Given the description of an element on the screen output the (x, y) to click on. 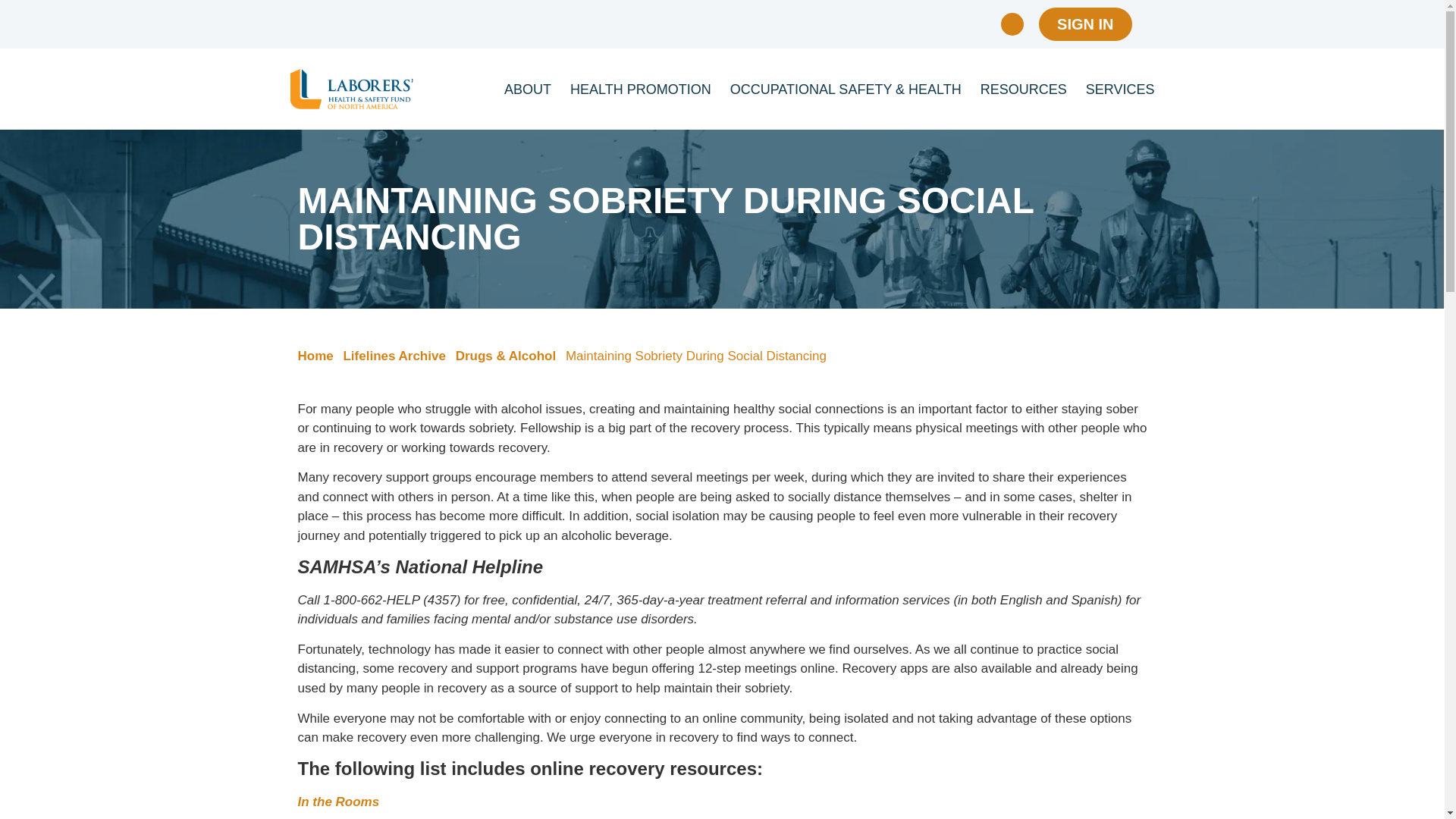
Home (315, 355)
ABOUT (527, 88)
RESOURCES (1023, 88)
In the Rooms (337, 801)
HEALTH PROMOTION (640, 88)
SIGN IN (1085, 23)
SERVICES (1120, 88)
Lifelines Archive (393, 355)
